Given the description of an element on the screen output the (x, y) to click on. 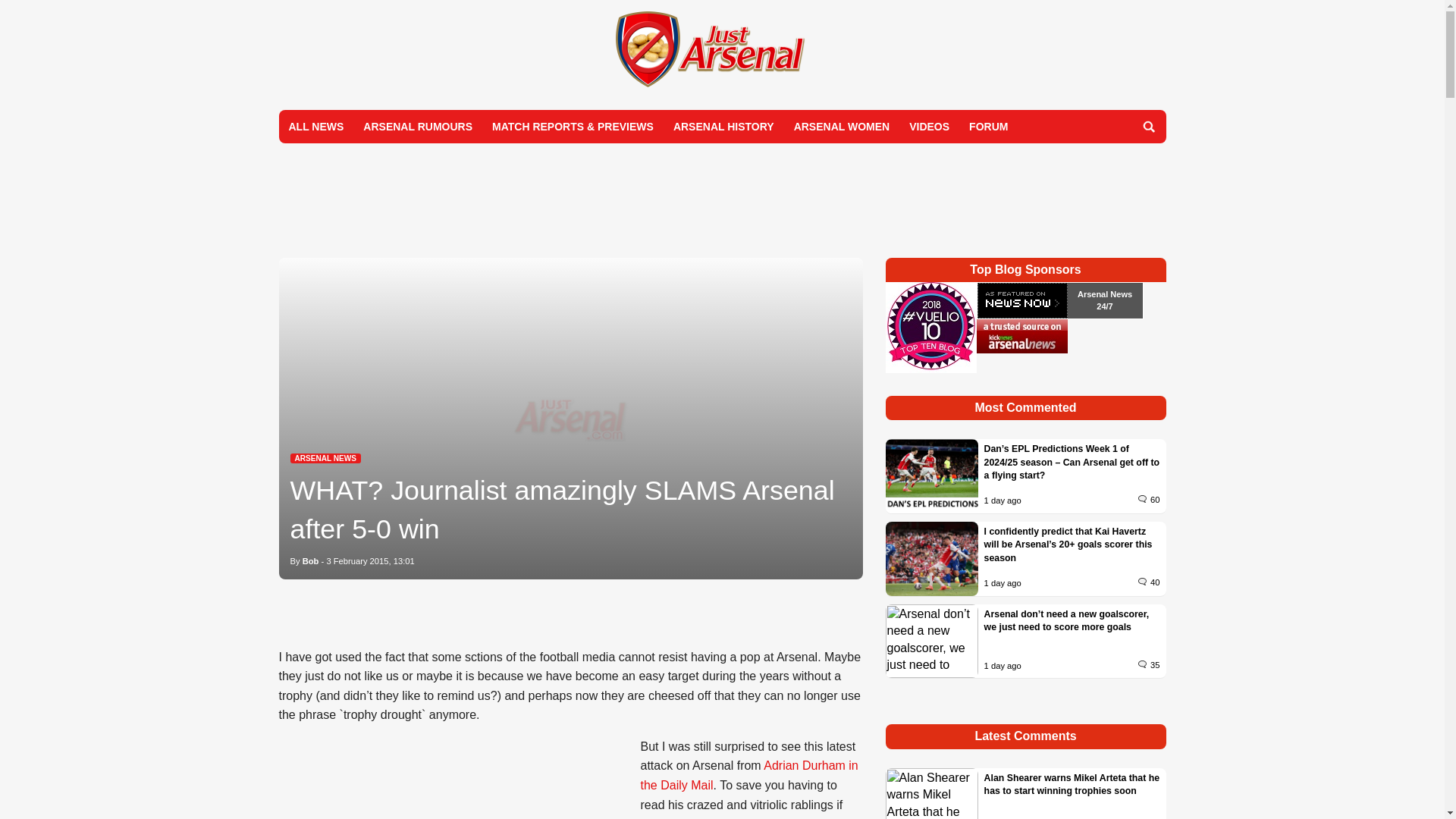
FORUM (988, 126)
Adrian Durham in the Daily Mail (748, 775)
3 February 2015, 13:01 (369, 560)
VIDEOS (929, 126)
Latest Arsenal News News (325, 458)
ARSENAL HISTORY (723, 126)
ARSENAL NEWS (325, 458)
ALL NEWS (316, 126)
ARSENAL WOMEN (841, 126)
